Given the description of an element on the screen output the (x, y) to click on. 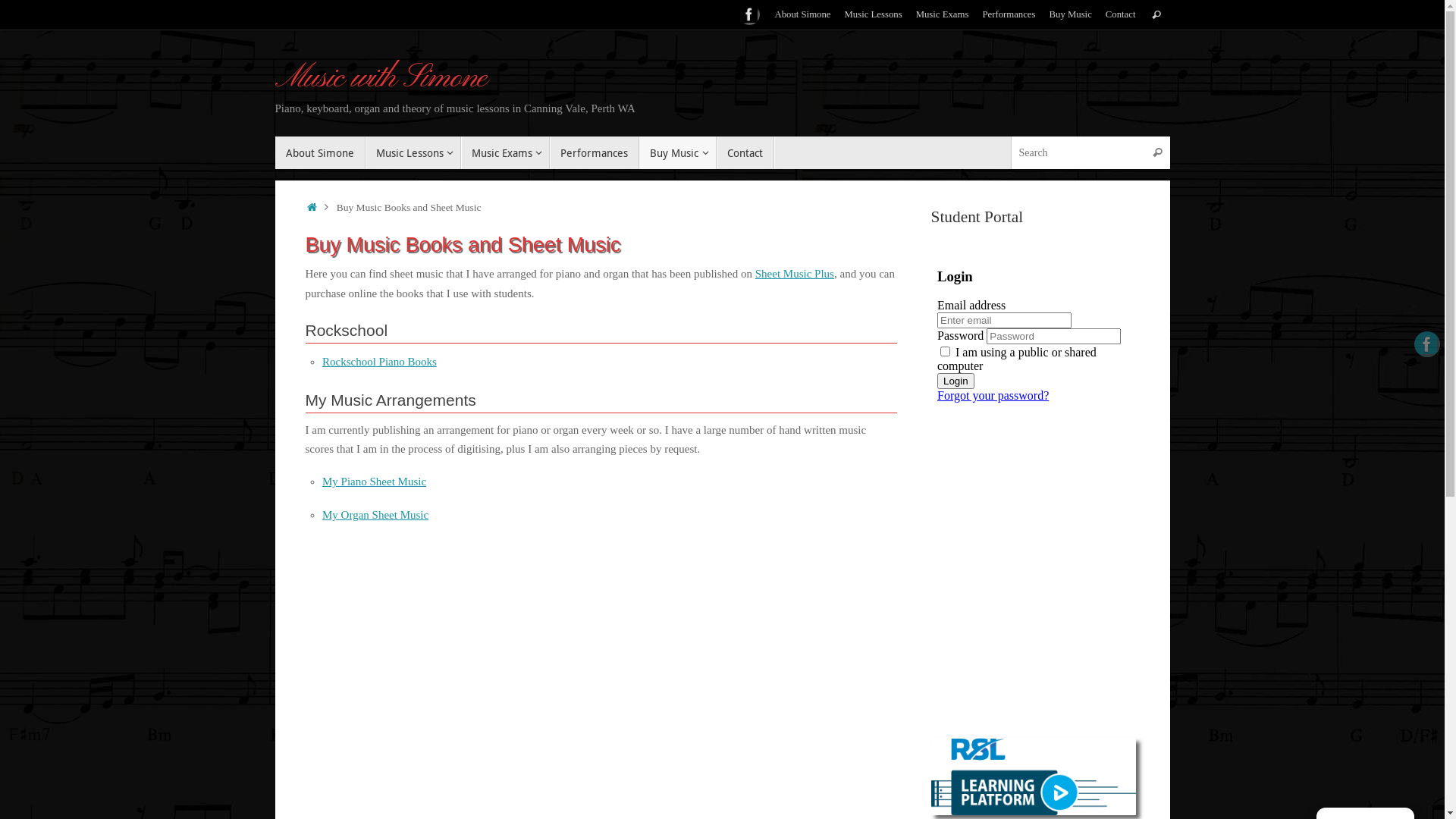
Search Element type: text (1157, 152)
Buy Music Element type: text (677, 152)
Music Lessons Element type: text (413, 152)
Contact Element type: text (745, 152)
Buy Music Element type: text (1070, 15)
Skip to content Element type: text (274, 159)
Music Exams Element type: text (942, 15)
Rockschool Piano Books Element type: text (379, 361)
My Piano Sheet Music Element type: text (374, 481)
Contact Element type: text (1120, 15)
Music Lessons Element type: text (872, 15)
Sheet Music Plus Element type: text (794, 273)
About Simone Element type: text (319, 152)
About Simone Element type: text (802, 15)
Performances Element type: text (594, 152)
Home Element type: text (311, 207)
Performances Element type: text (1008, 15)
Facebook Element type: hover (1427, 344)
Facebook Element type: hover (748, 14)
Music with Simone Element type: text (380, 78)
Music Exams Element type: text (505, 152)
My Organ Sheet Music Element type: text (375, 514)
Search Element type: text (1156, 14)
